Given the description of an element on the screen output the (x, y) to click on. 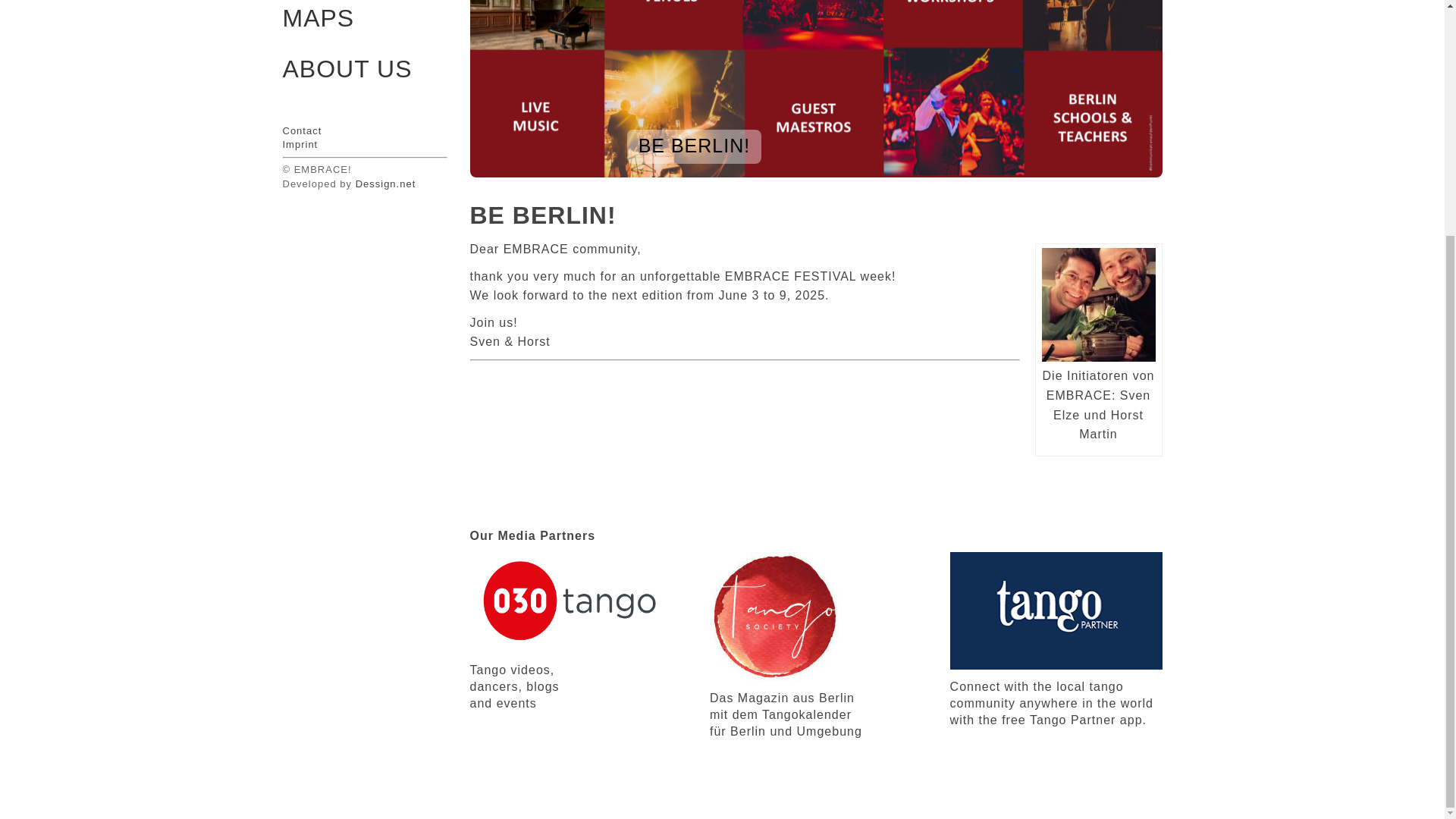
MAPS (360, 20)
ABOUT US (364, 69)
